Given the description of an element on the screen output the (x, y) to click on. 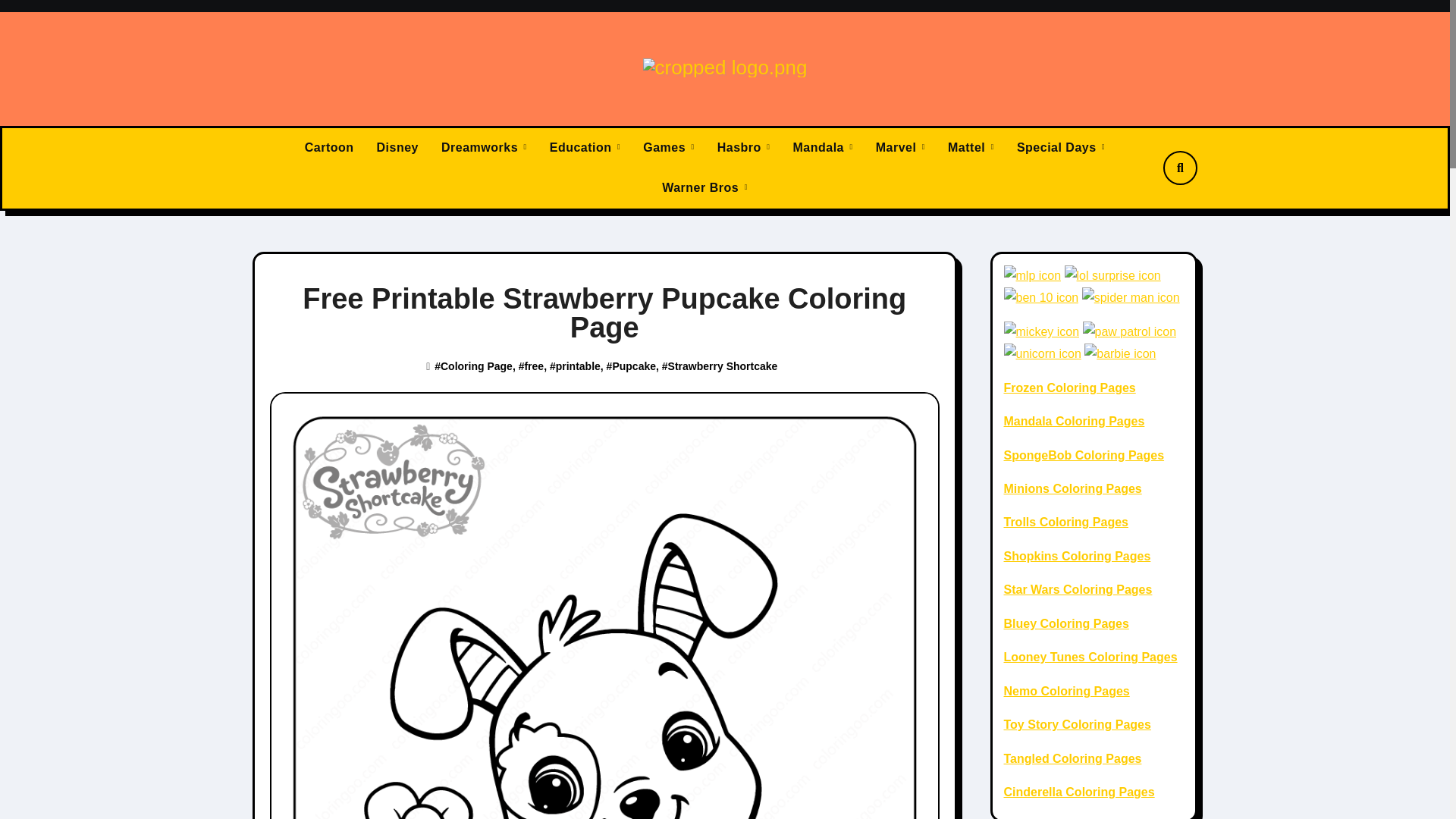
Disney (397, 147)
Dreamworks (483, 147)
Cartoon (329, 147)
Education (584, 147)
Dreamworks (483, 147)
Disney (397, 147)
Games (668, 147)
Cartoon (329, 147)
Education (584, 147)
